Given the description of an element on the screen output the (x, y) to click on. 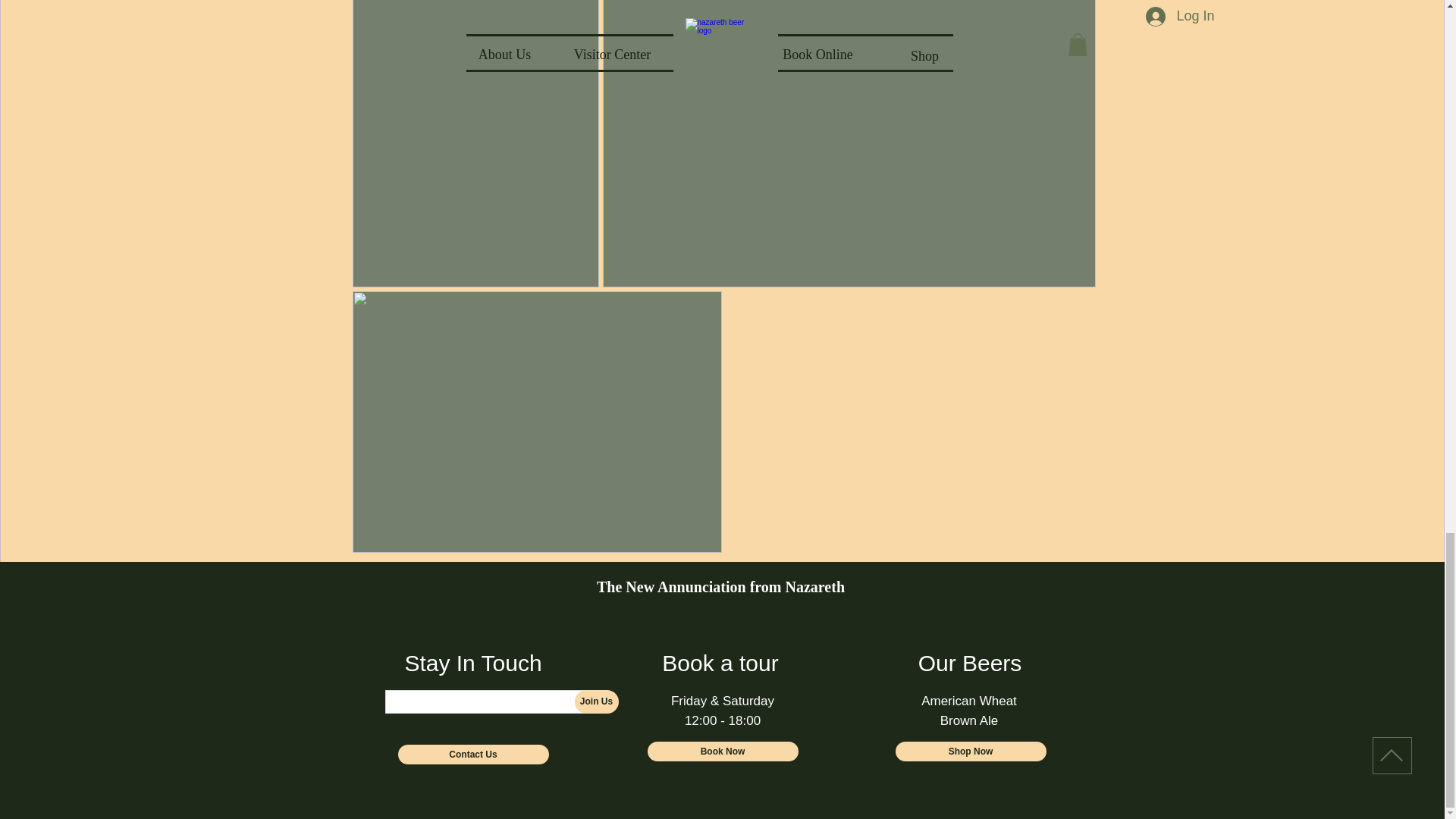
Join Us (596, 701)
Contact Us (472, 754)
Shop Now (970, 751)
Book Now (722, 751)
